Given the description of an element on the screen output the (x, y) to click on. 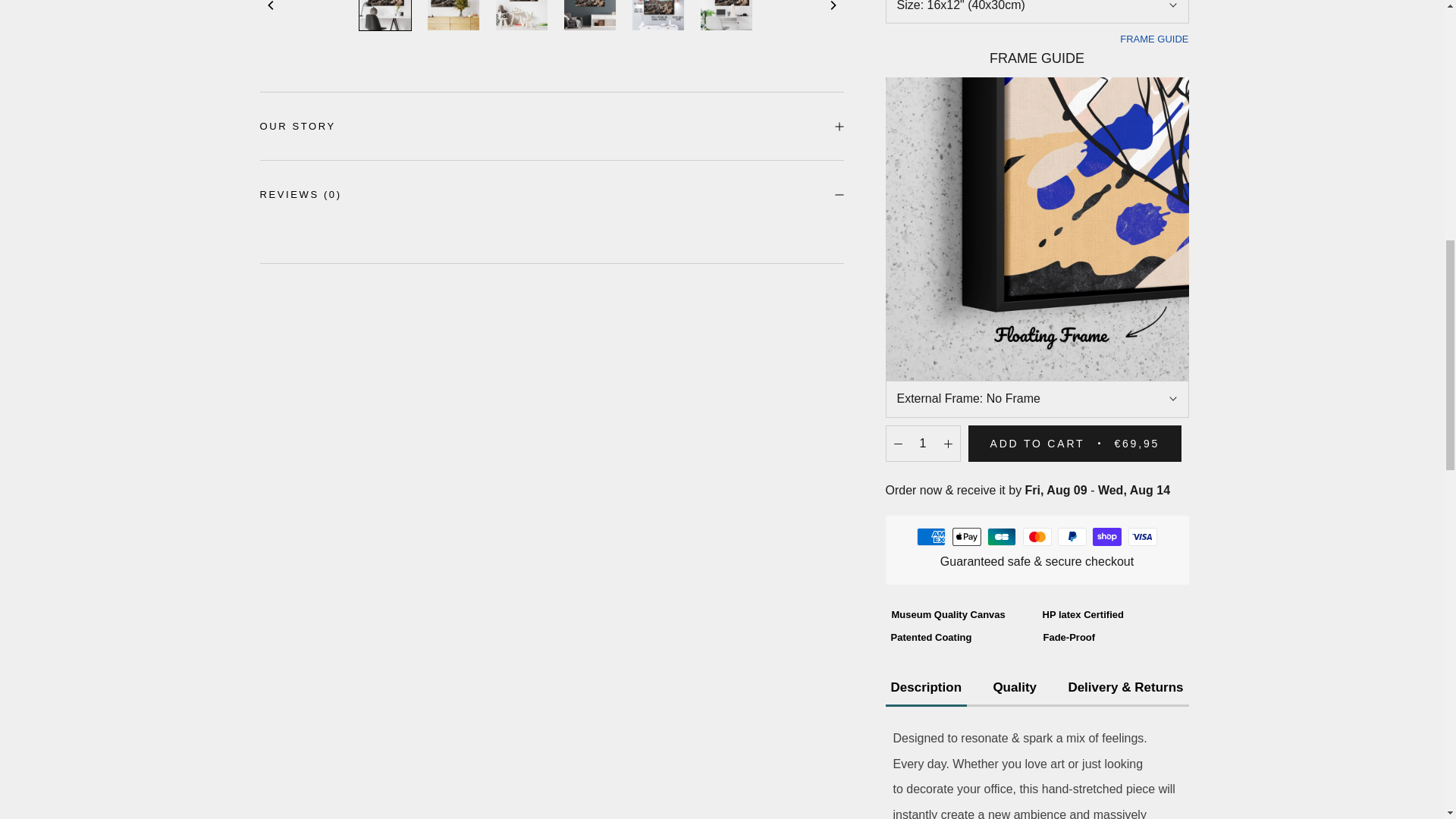
1 (923, 377)
Cartes Bancaires (1001, 470)
Apple Pay (966, 470)
Shop Pay (1107, 470)
Mastercard (1036, 470)
American Express (930, 470)
PayPal (1072, 470)
